Given the description of an element on the screen output the (x, y) to click on. 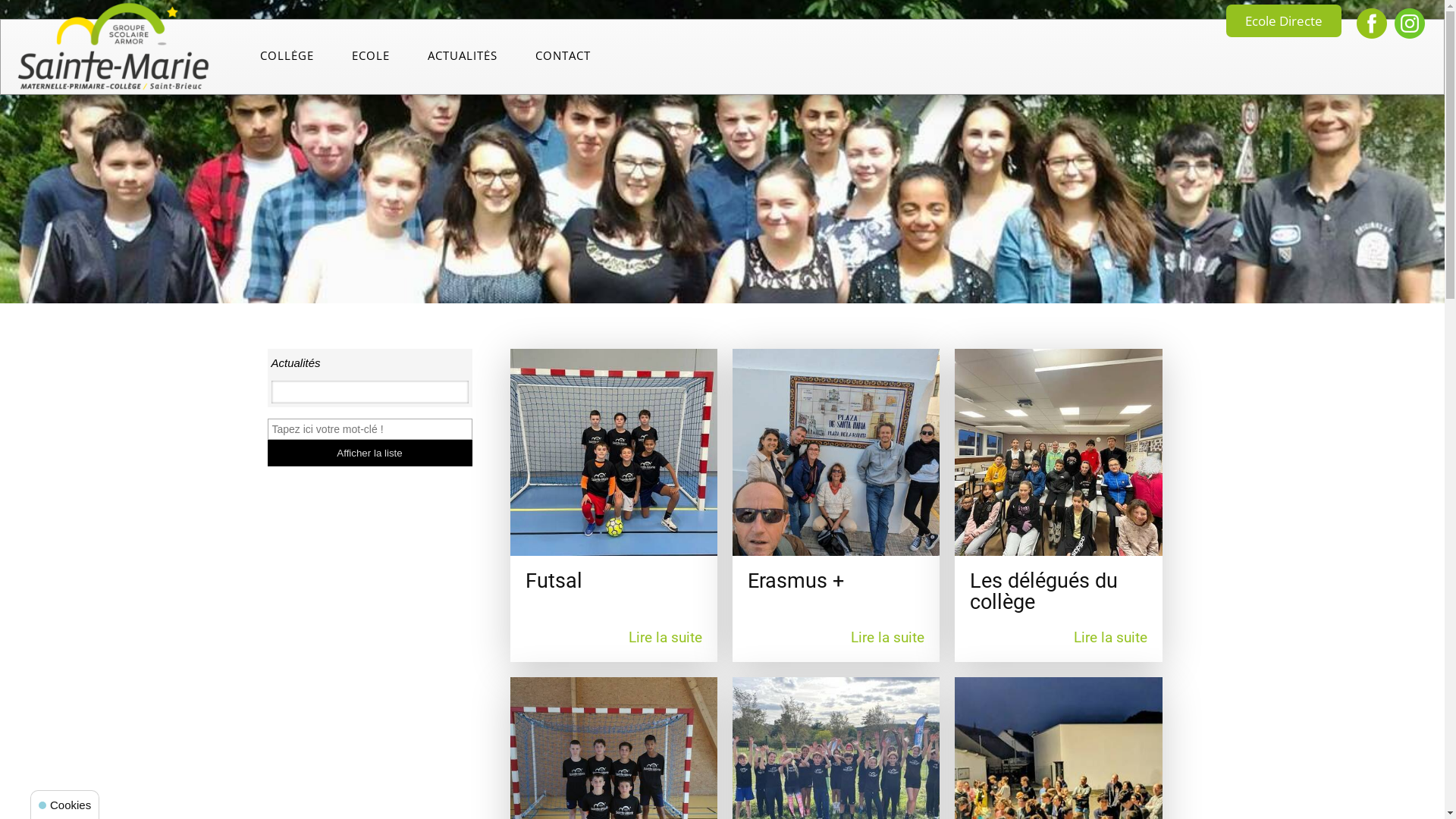
Futsal Element type: hover (612, 451)
Futsal
Lire la suite Element type: text (612, 505)
Erasmus +
Lire la suite Element type: text (835, 505)
Erasmus + Element type: hover (835, 451)
ECOLE Element type: text (370, 59)
Afficher la liste Element type: text (368, 452)
Ecole Directe Element type: text (1283, 20)
